Given the description of an element on the screen output the (x, y) to click on. 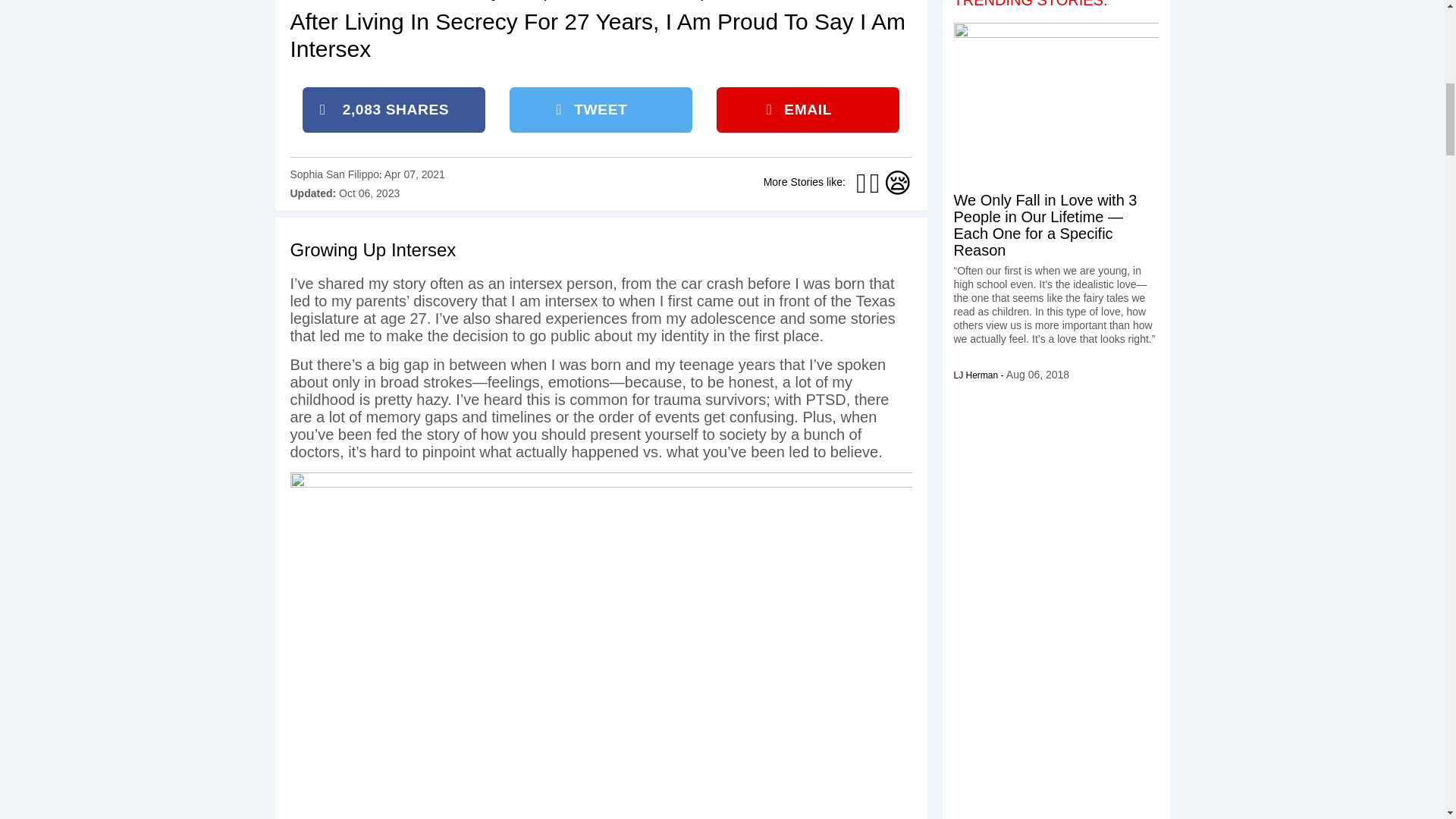
August 6, 2018 (1037, 374)
October 6, 2023 (368, 193)
April 7, 2021 (414, 174)
